Given the description of an element on the screen output the (x, y) to click on. 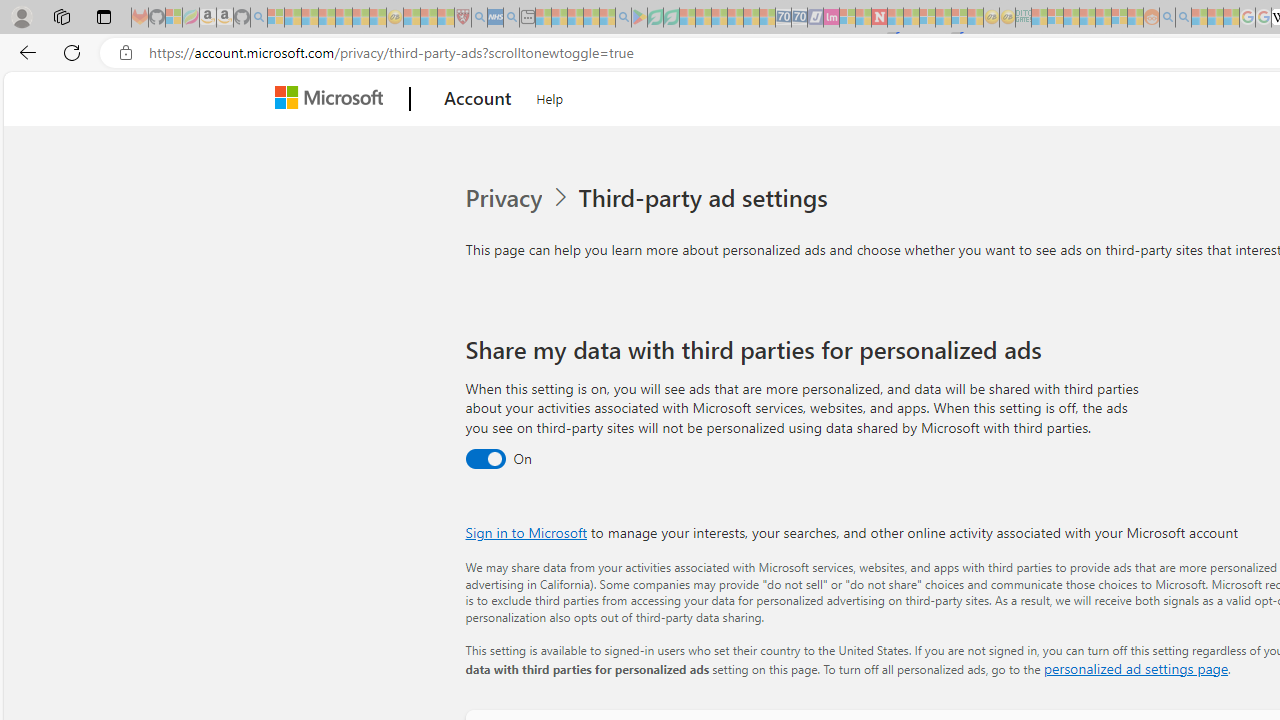
personalized ad settings page (1135, 668)
